Given the description of an element on the screen output the (x, y) to click on. 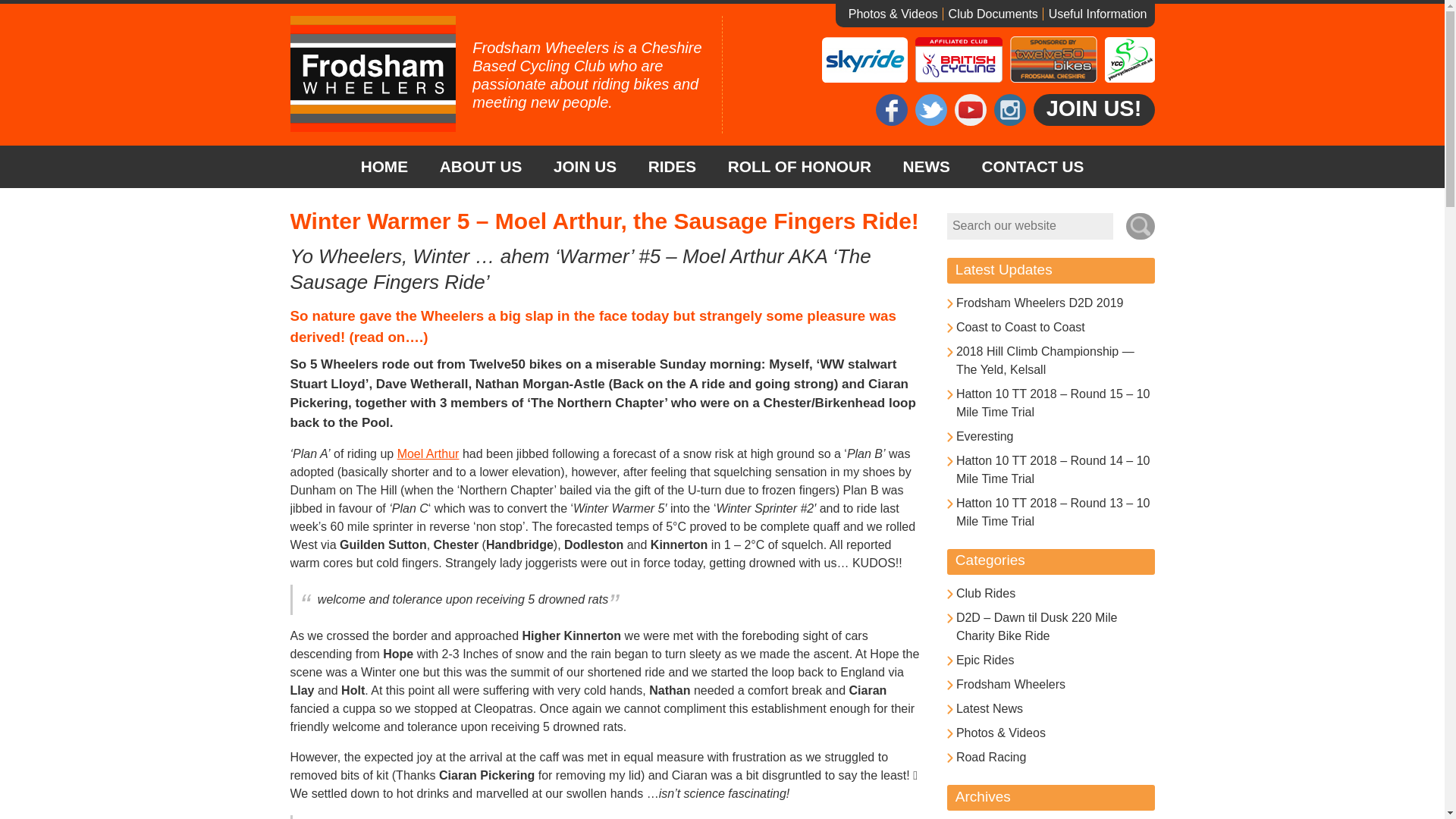
ROLL OF HONOUR (798, 166)
Club Documents (993, 13)
JOIN US (584, 166)
NEWS (926, 166)
Useful Information (1095, 13)
ABOUT US (480, 166)
Moel Arthur (428, 453)
JOIN US! (1093, 110)
CONTACT US (1032, 166)
RIDES (671, 166)
